Given the description of an element on the screen output the (x, y) to click on. 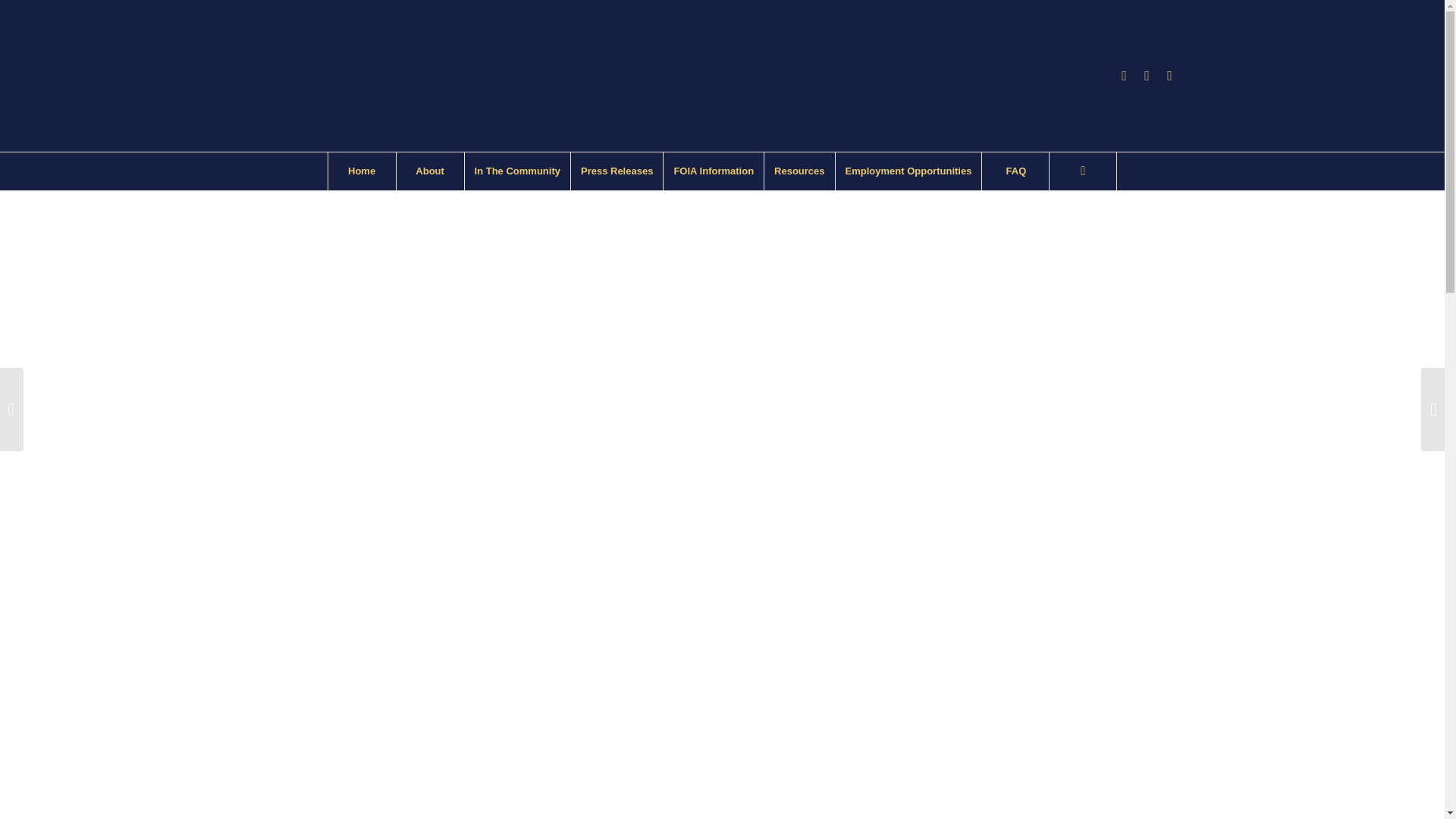
About (430, 171)
In The Community (517, 171)
Home (361, 171)
Facebook (1124, 75)
Twitter (1169, 75)
Instagram (1146, 75)
